Given the description of an element on the screen output the (x, y) to click on. 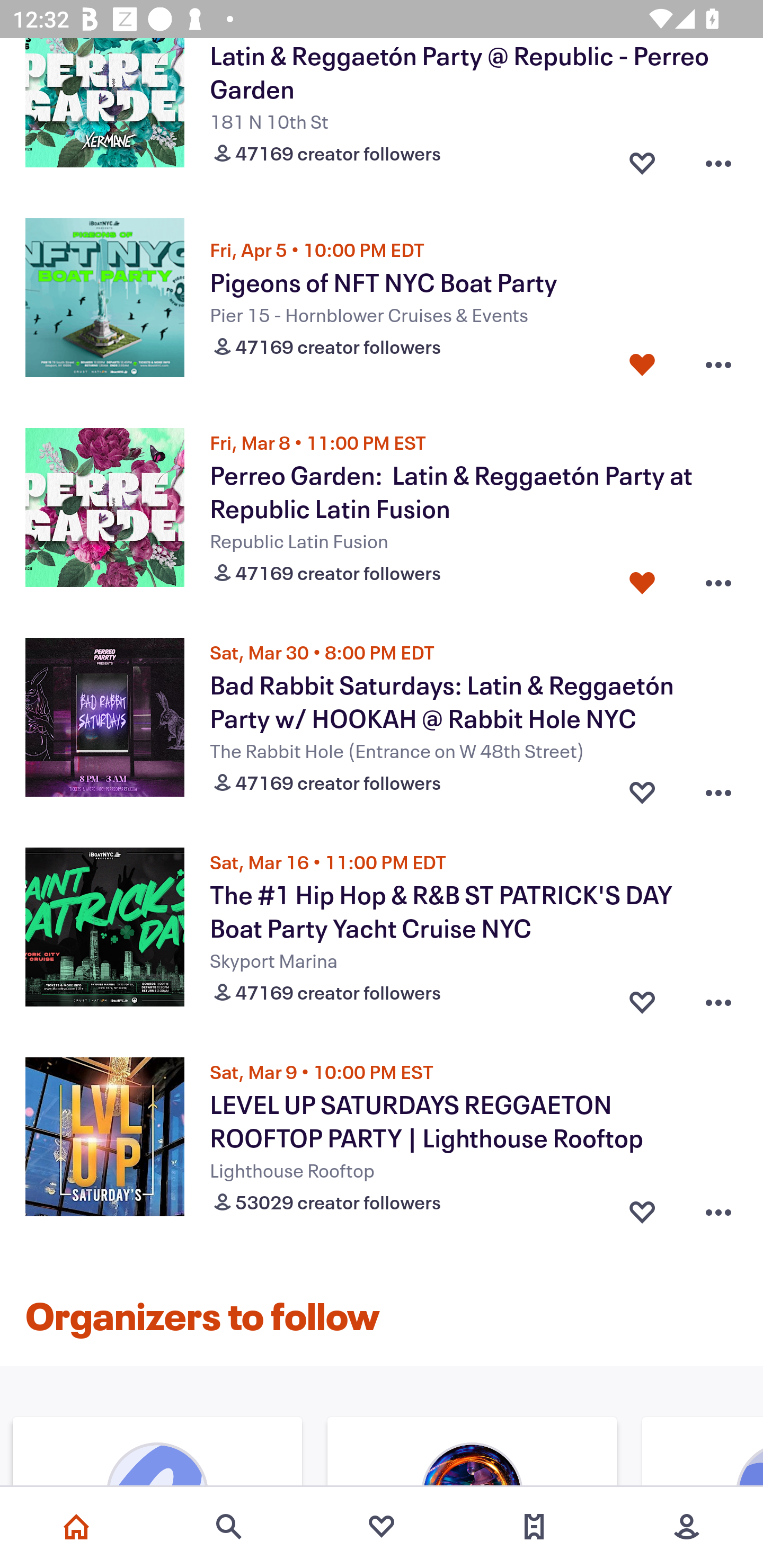
Favorite button (642, 158)
Overflow menu button (718, 158)
Favorite button (642, 364)
Overflow menu button (718, 364)
Favorite button (642, 579)
Overflow menu button (718, 579)
Favorite button (642, 787)
Overflow menu button (718, 787)
Favorite button (642, 997)
Overflow menu button (718, 997)
Favorite button (642, 1207)
Overflow menu button (718, 1207)
Home (76, 1526)
Search events (228, 1526)
Favorites (381, 1526)
Tickets (533, 1526)
More (686, 1526)
